Given the description of an element on the screen output the (x, y) to click on. 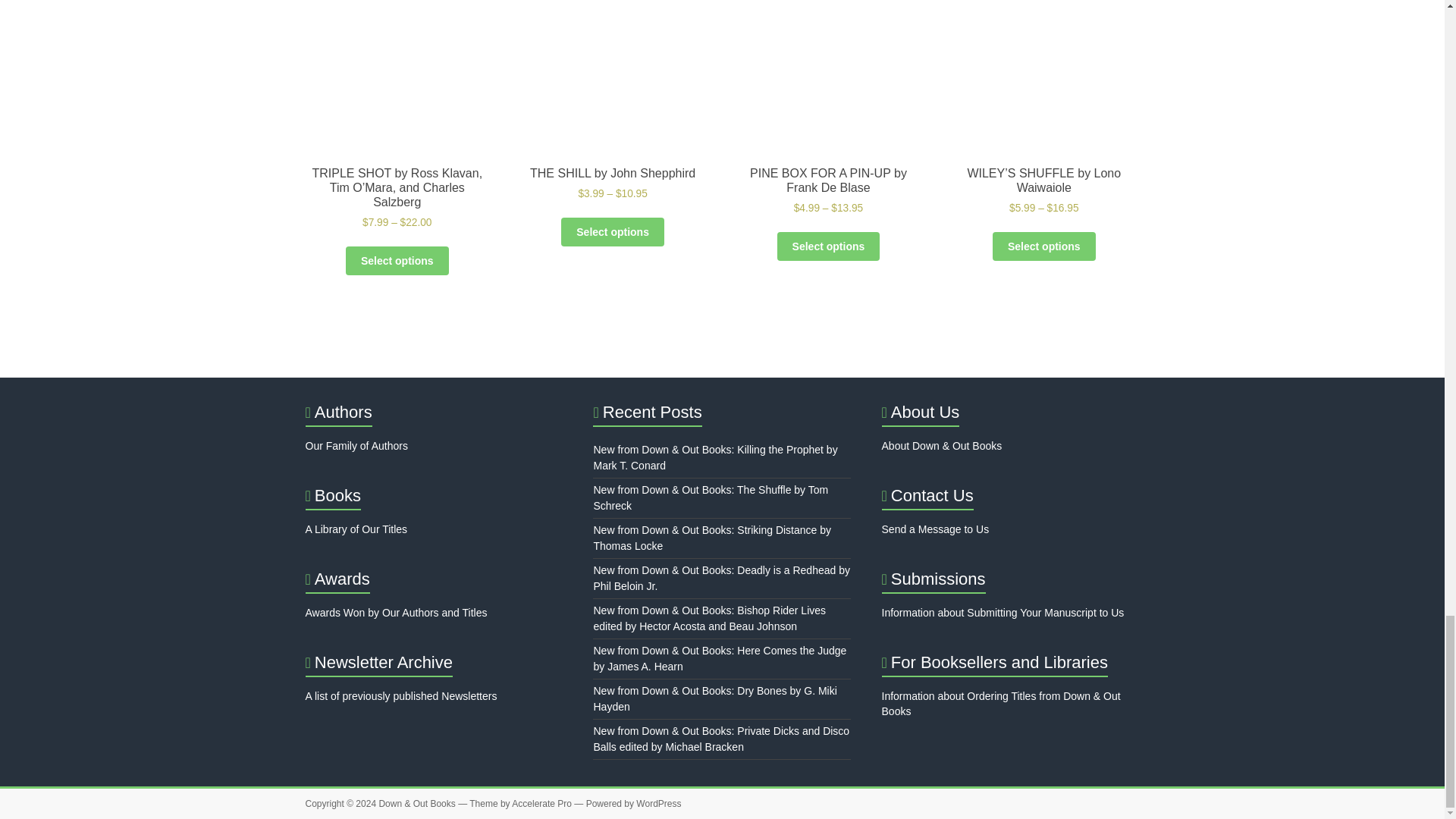
WordPress (658, 803)
Accelerate Pro (542, 803)
